Given the description of an element on the screen output the (x, y) to click on. 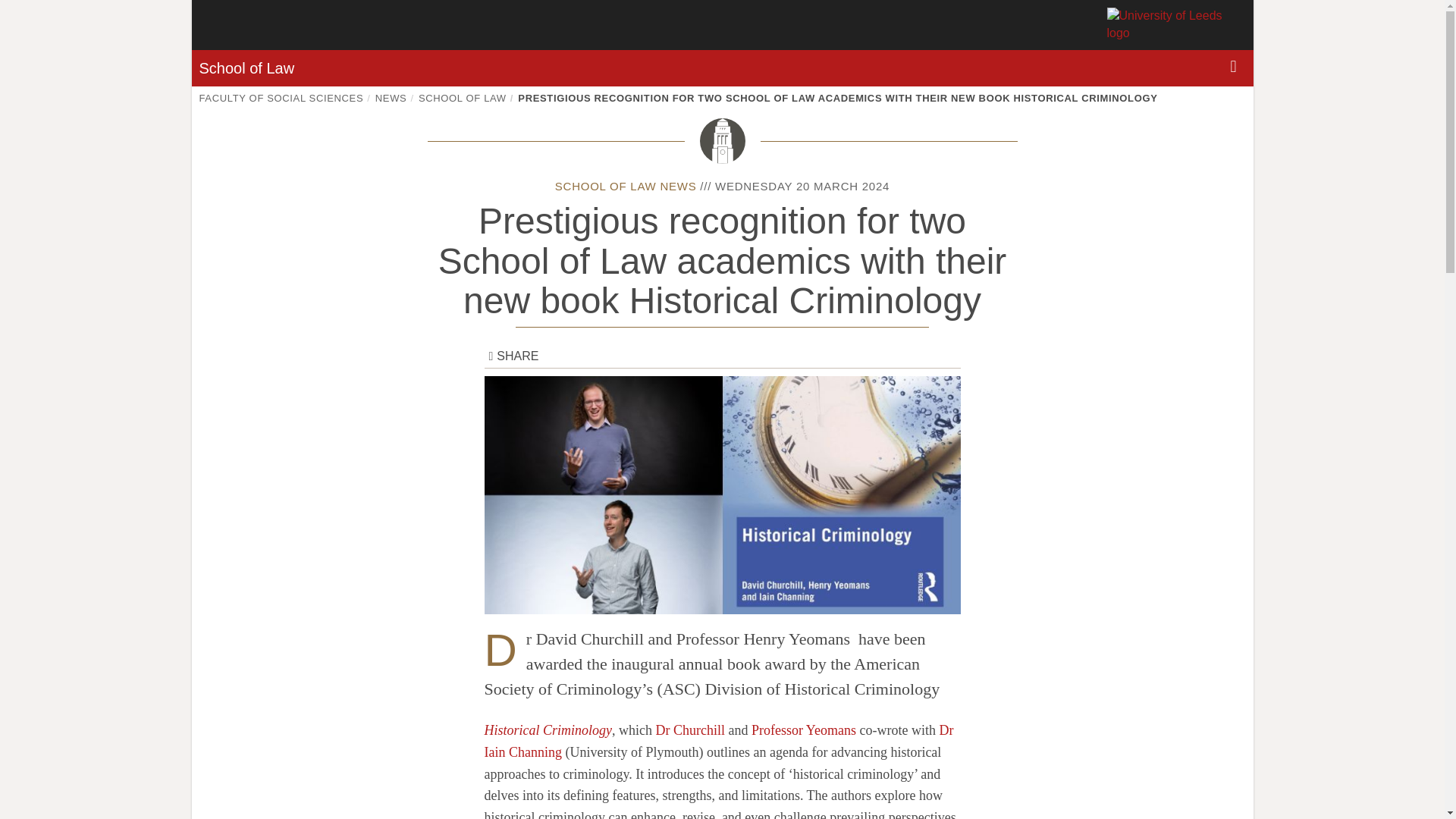
University of Leeds homepage (1176, 24)
School of Law (246, 67)
